Given the description of an element on the screen output the (x, y) to click on. 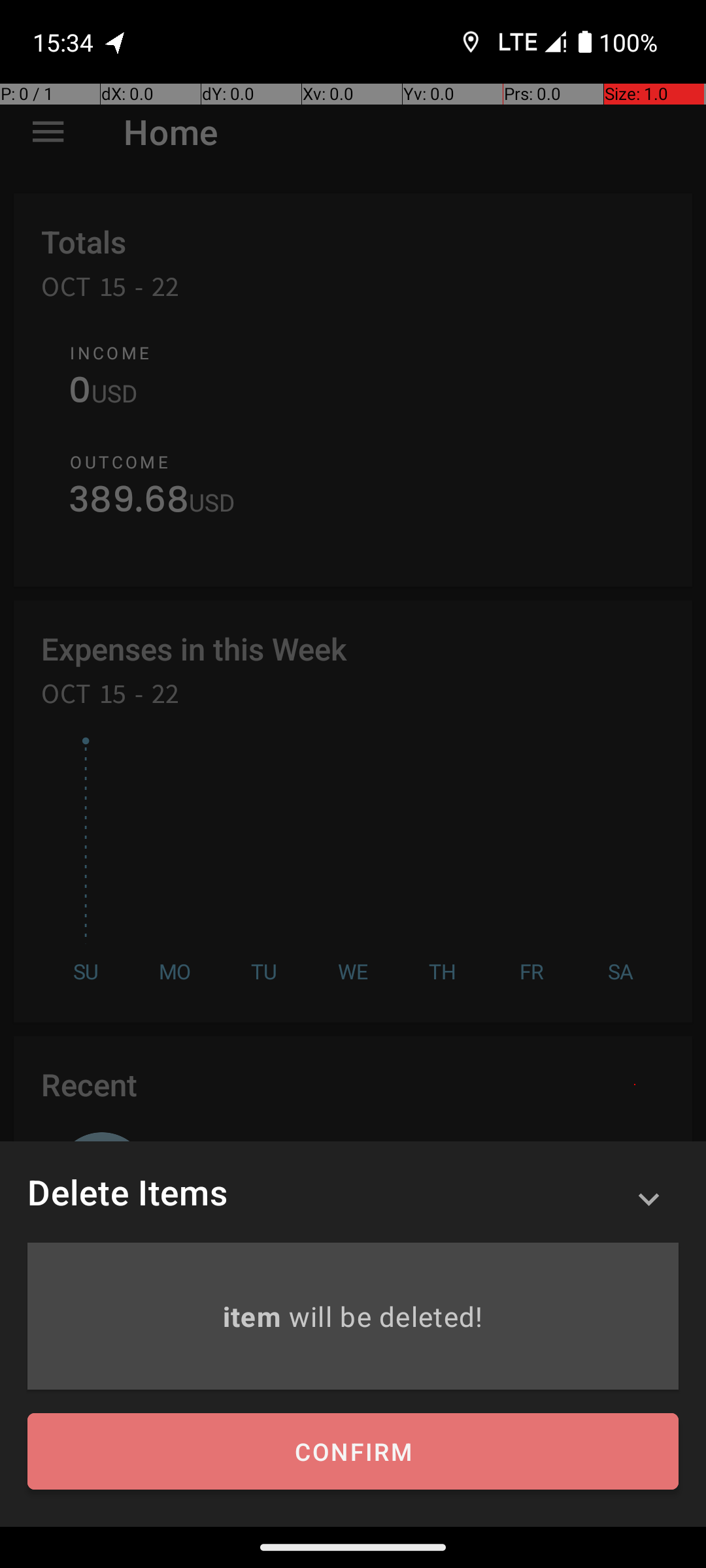
OpenTracks notification:  Element type: android.widget.ImageView (115, 41)
